Given the description of an element on the screen output the (x, y) to click on. 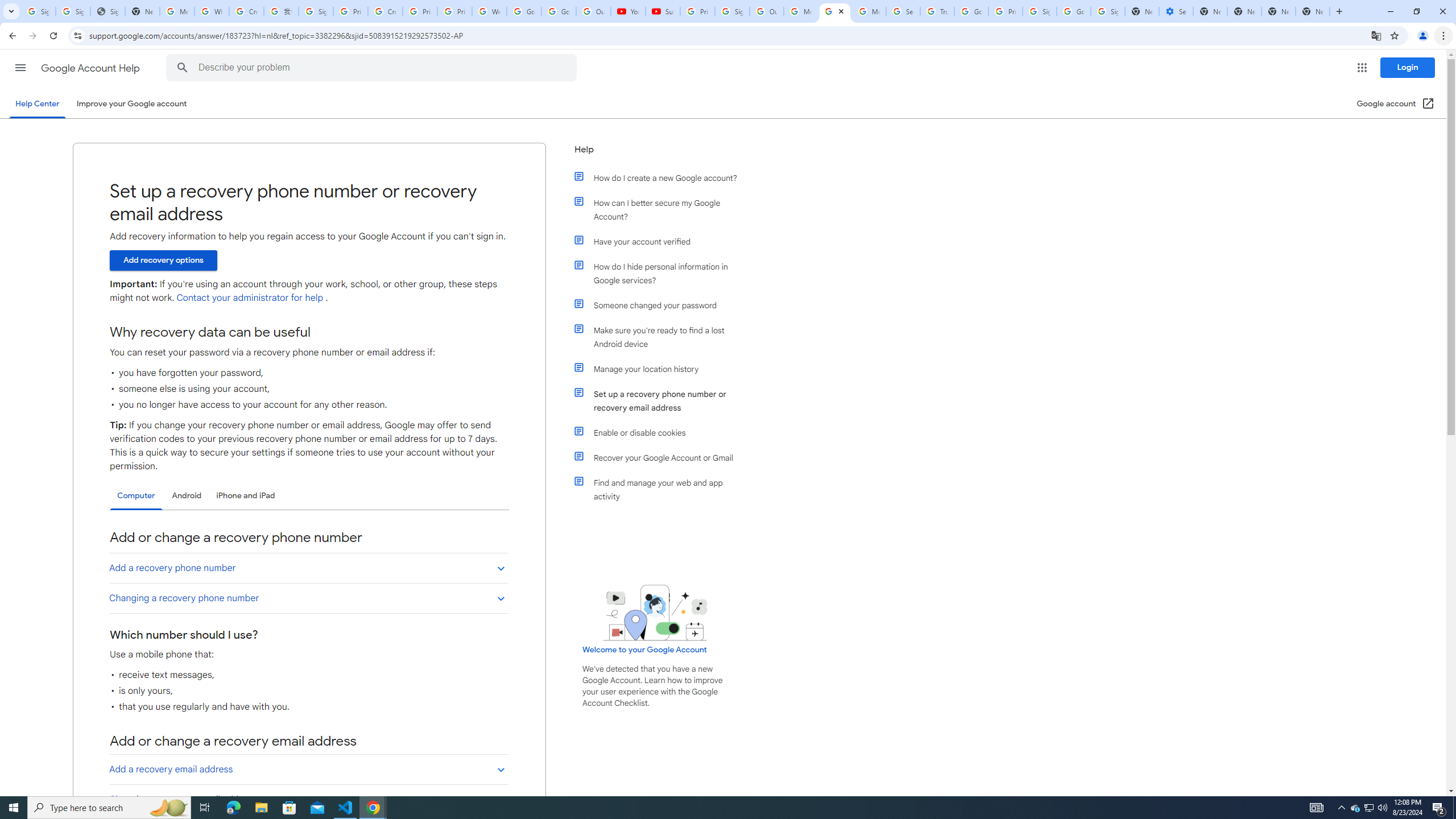
Enable or disable cookies (661, 432)
Create your Google Account (384, 11)
Login (1407, 67)
Add a recovery phone number (308, 567)
Make sure you're ready to find a lost Android device (661, 336)
iPhone and iPad (245, 495)
Set up a recovery phone number or recovery email address (661, 400)
Google Account (Opens in new window) (1395, 103)
YouTube (627, 11)
